Given the description of an element on the screen output the (x, y) to click on. 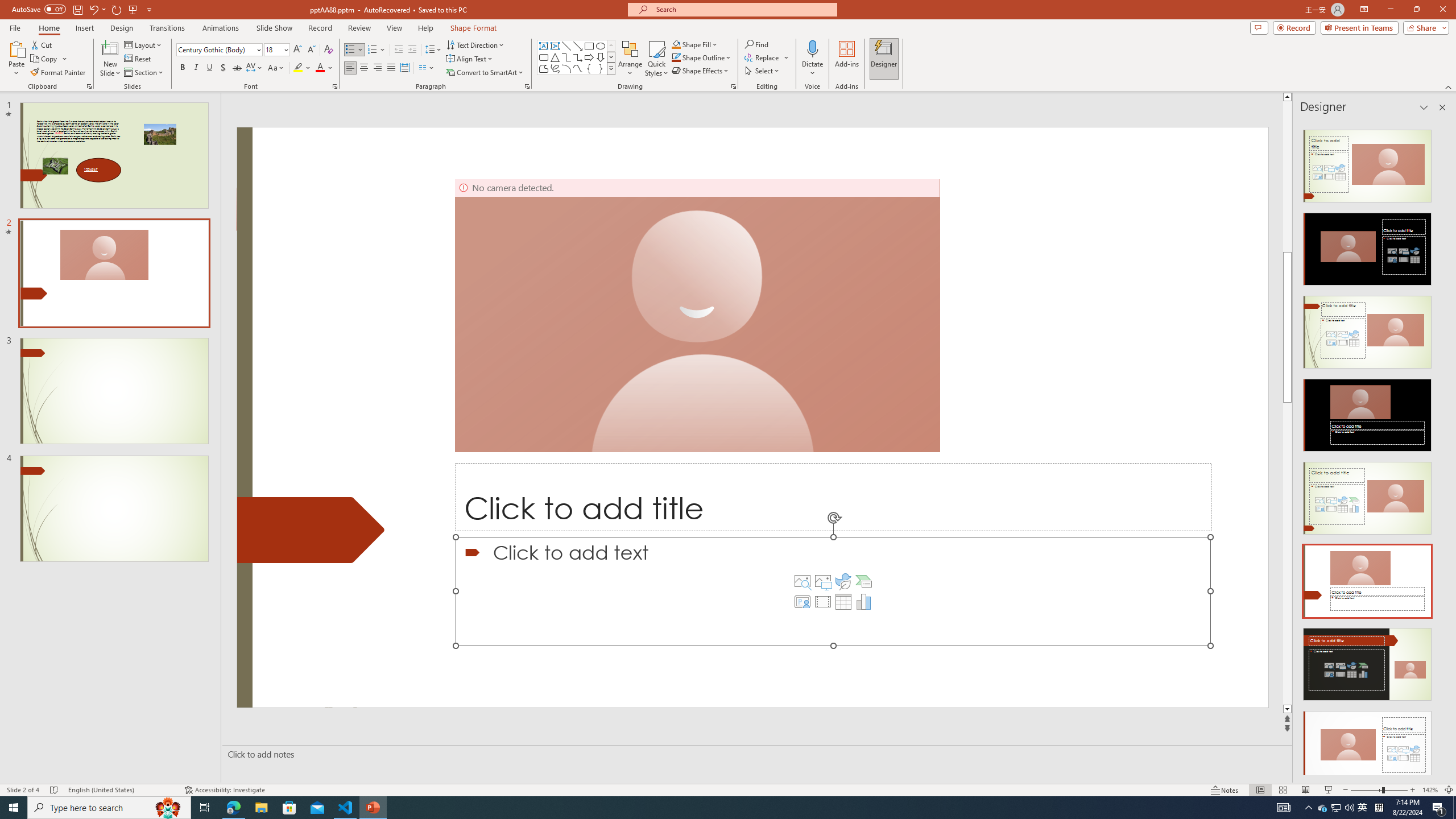
Decorative Locked (310, 530)
Camera 7, No camera detected. (697, 314)
